Given the description of an element on the screen output the (x, y) to click on. 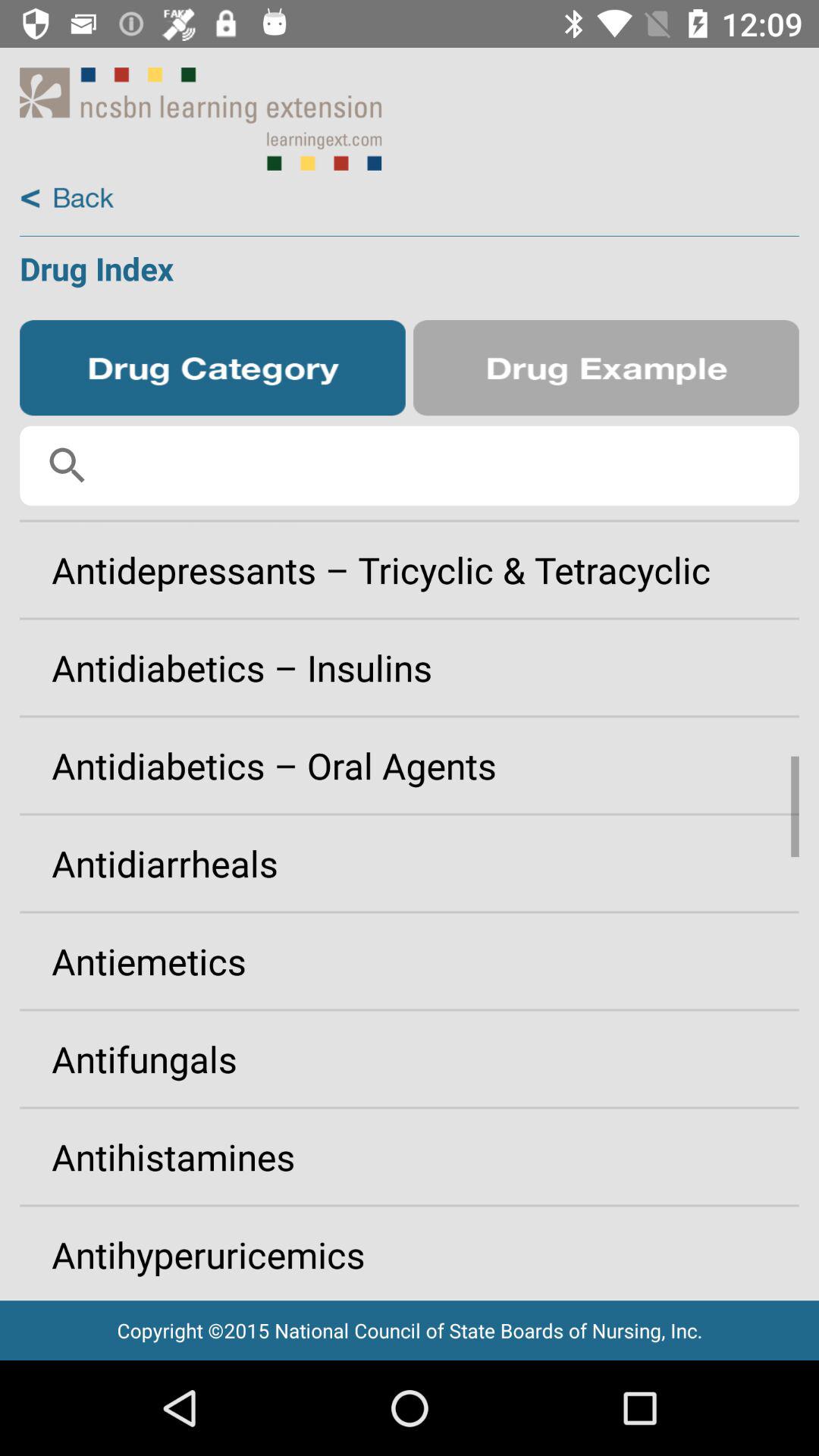
flip until the antihistamines (409, 1156)
